Given the description of an element on the screen output the (x, y) to click on. 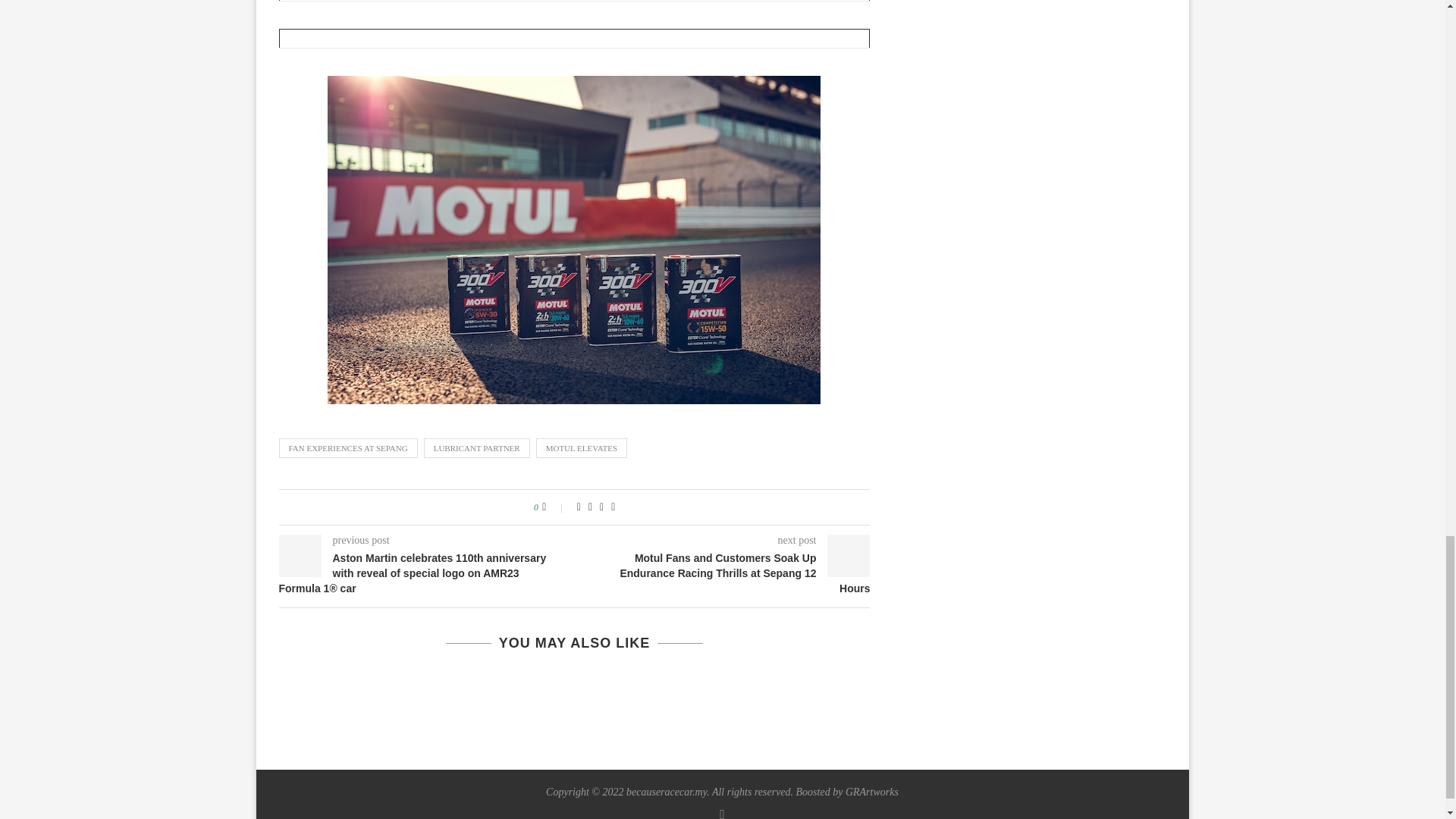
FAN EXPERIENCES AT SEPANG (348, 447)
MOTUL ELEVATES (581, 447)
Like (553, 507)
LUBRICANT PARTNER (476, 447)
